Given the description of an element on the screen output the (x, y) to click on. 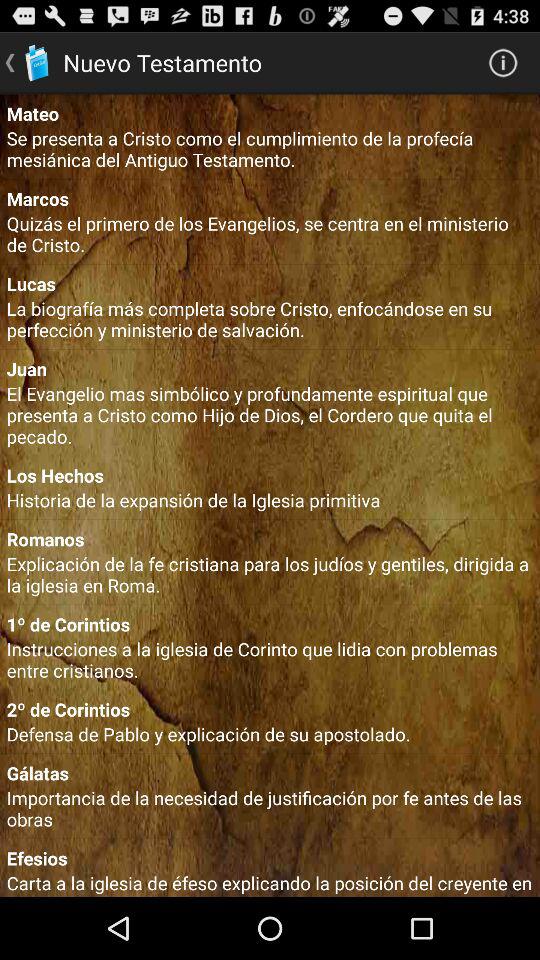
tap app below importancia de la app (269, 858)
